Given the description of an element on the screen output the (x, y) to click on. 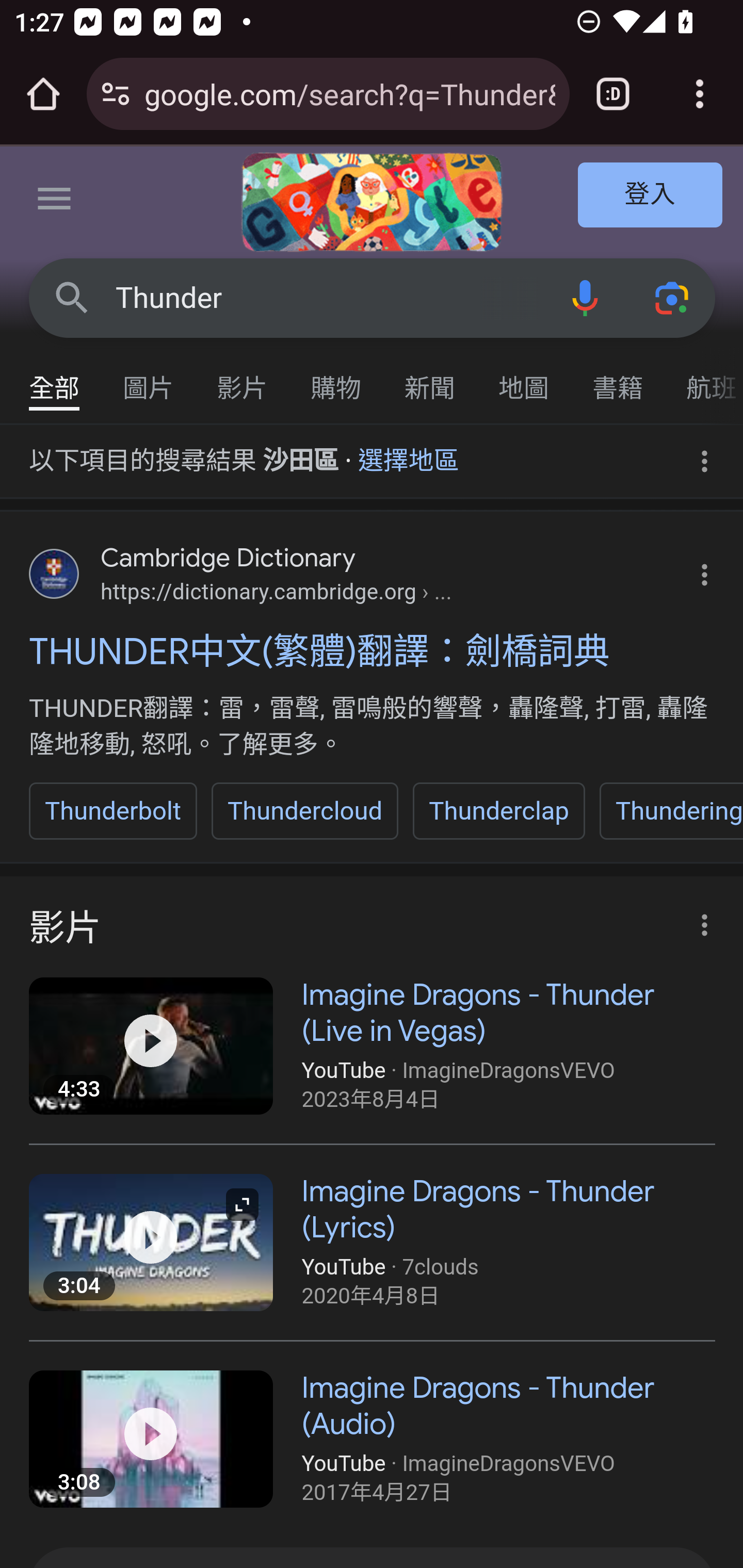
Open the home page (43, 93)
Connection is secure (115, 93)
Switch or close tabs (612, 93)
Customize and control Google Chrome (699, 93)
2024 年國際婦女節 (371, 202)
主選單 (54, 202)
登入 (650, 195)
Google 搜尋 (71, 296)
使用相機或相片搜尋 (672, 296)
Thunder (328, 297)
圖片 (148, 378)
影片 (242, 378)
購物 (336, 378)
新聞 (430, 378)
地圖 (524, 378)
書籍 (618, 378)
航班 (703, 378)
選擇地區 (408, 453)
THUNDER中文(繁體)翻譯：劍橋詞典 (372, 651)
Thunderbolt (113, 811)
Thundercloud (303, 811)
Thunderclap (498, 811)
Thundering (670, 811)
關於此結果 (698, 919)
